Given the description of an element on the screen output the (x, y) to click on. 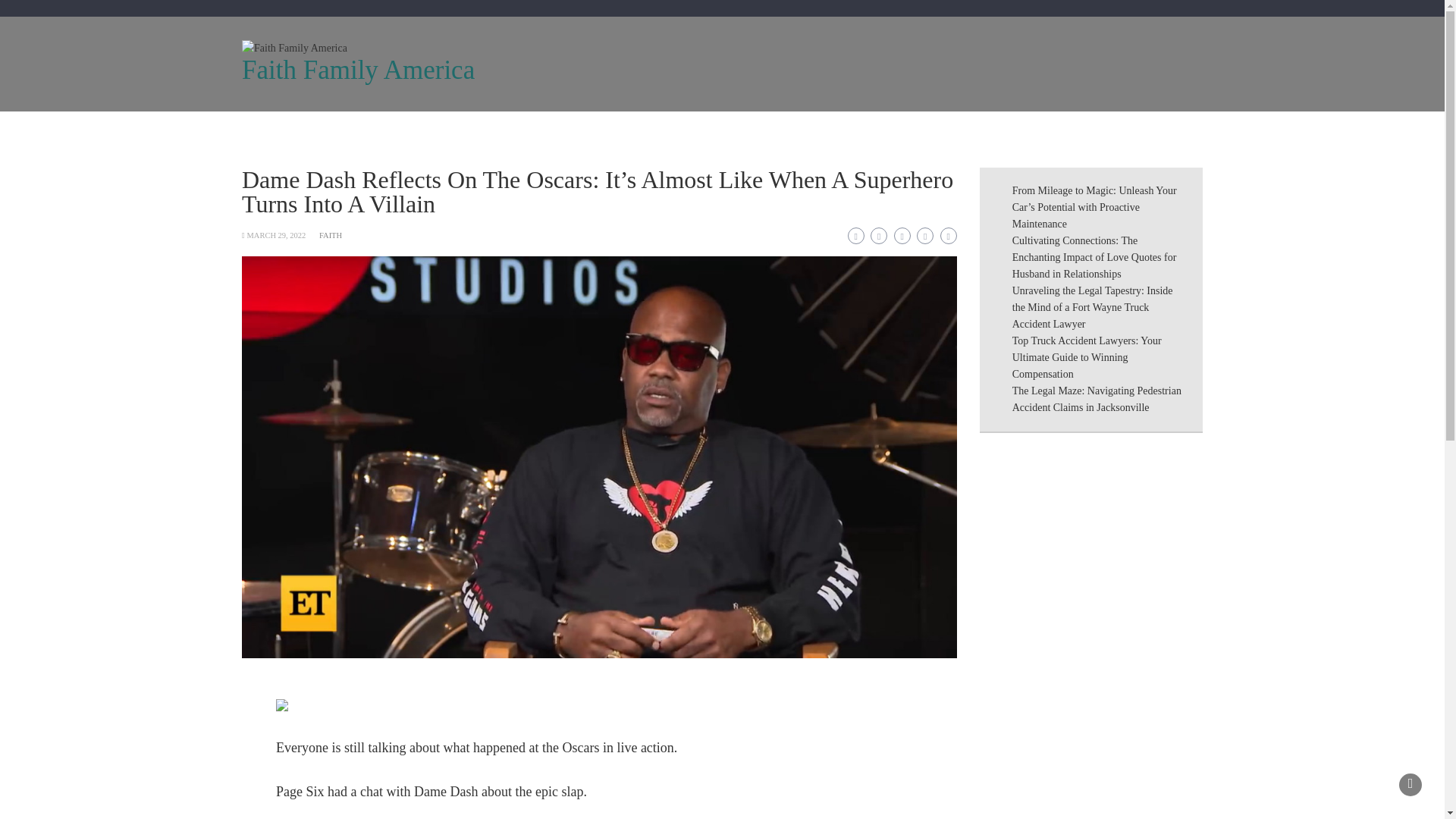
Faith Family America (357, 70)
America (542, 130)
Home (273, 130)
MARCH 29, 2022 (275, 234)
Family (472, 130)
Consumer (687, 130)
Contact (763, 130)
FAITH (330, 234)
Uplifting (342, 130)
Faith (410, 130)
Privacy Policy (847, 130)
